Given the description of an element on the screen output the (x, y) to click on. 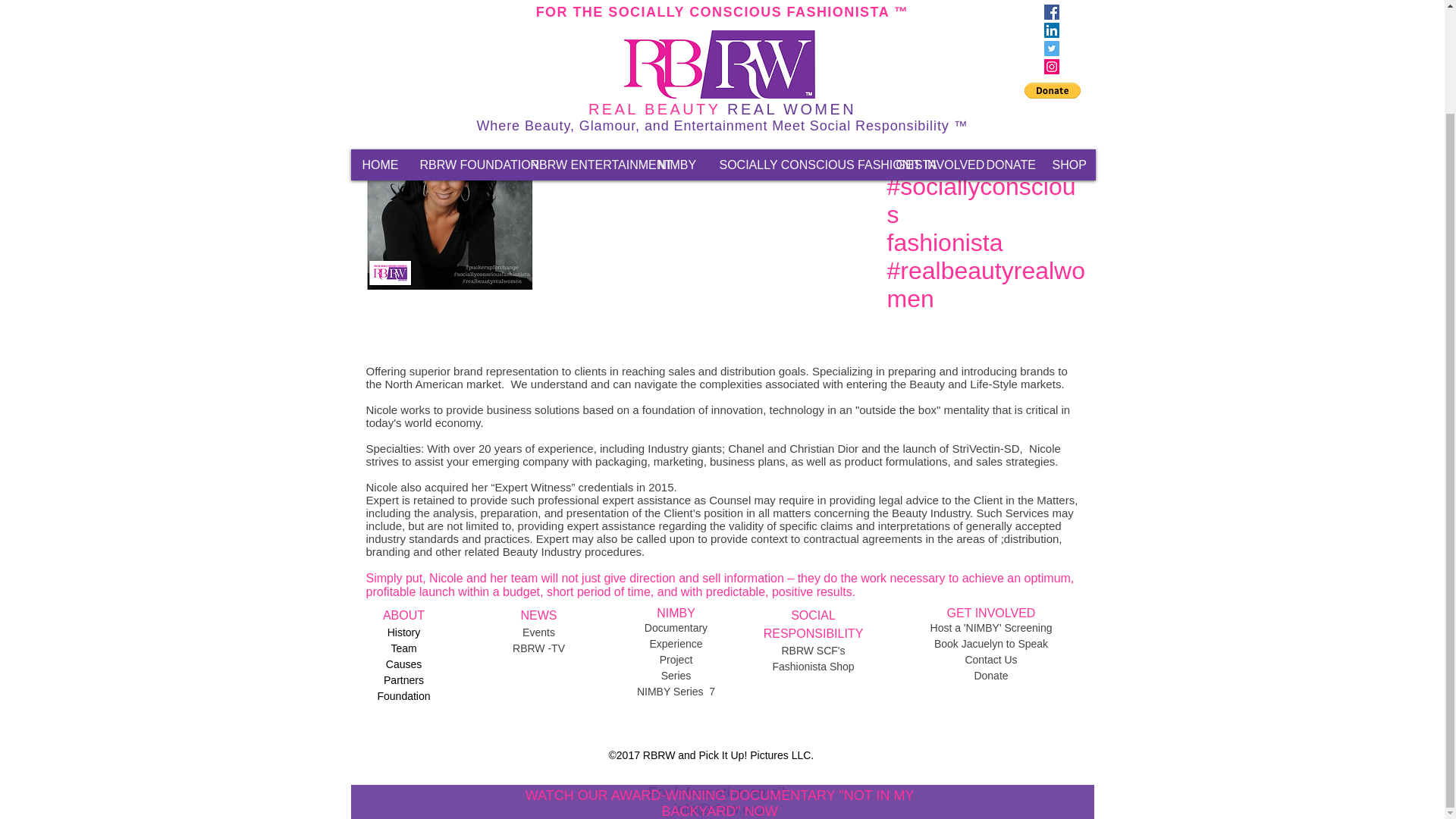
RBRW ENTERTAINMENT (582, 42)
External Vimeo (723, 200)
HOME (378, 42)
NIMBY (676, 42)
History (403, 632)
Partners (403, 680)
RBRW -TV (538, 648)
ABOUT (403, 615)
NEWS (537, 615)
Foundation (403, 695)
